Given the description of an element on the screen output the (x, y) to click on. 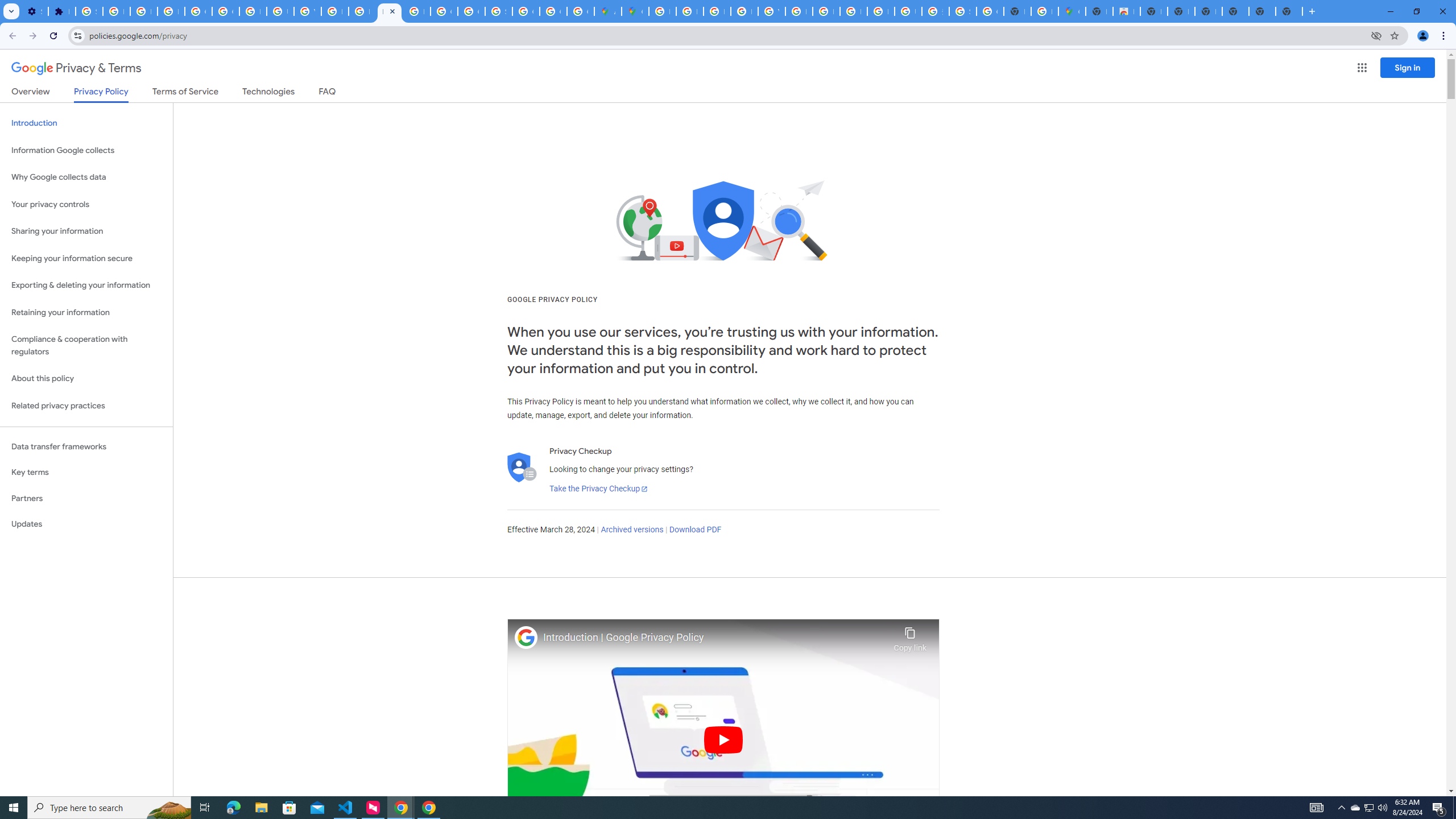
Sign in - Google Accounts (88, 11)
YouTube (771, 11)
Google Maps (1071, 11)
About this policy (86, 379)
Privacy Help Center - Policies Help (716, 11)
Policy Accountability and Transparency - Transparency Center (662, 11)
